Given the description of an element on the screen output the (x, y) to click on. 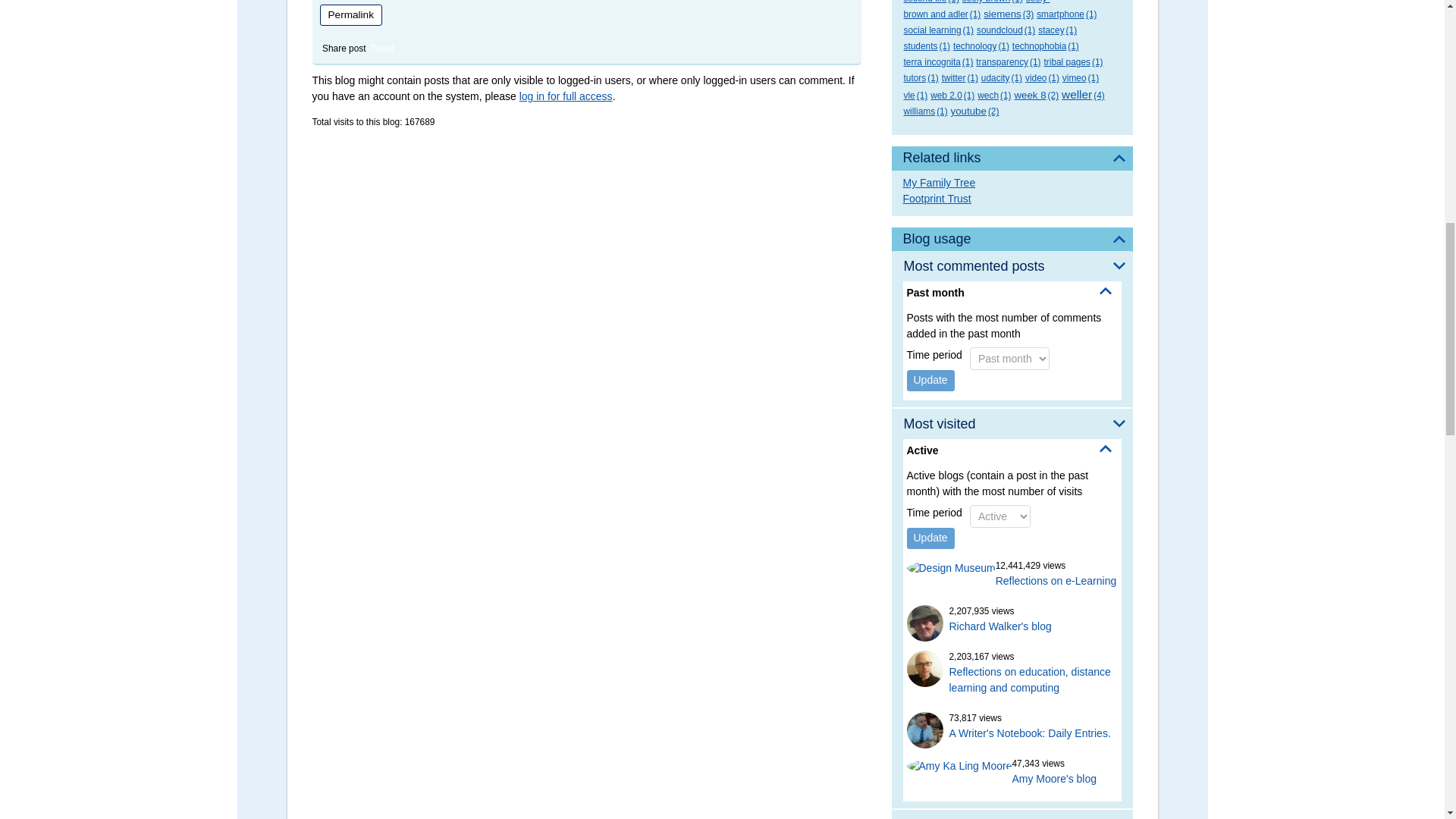
Related links (1011, 158)
Update (931, 537)
Update (931, 380)
Hide options (1105, 291)
Blog usage (1011, 239)
Hide options (1105, 449)
